Given the description of an element on the screen output the (x, y) to click on. 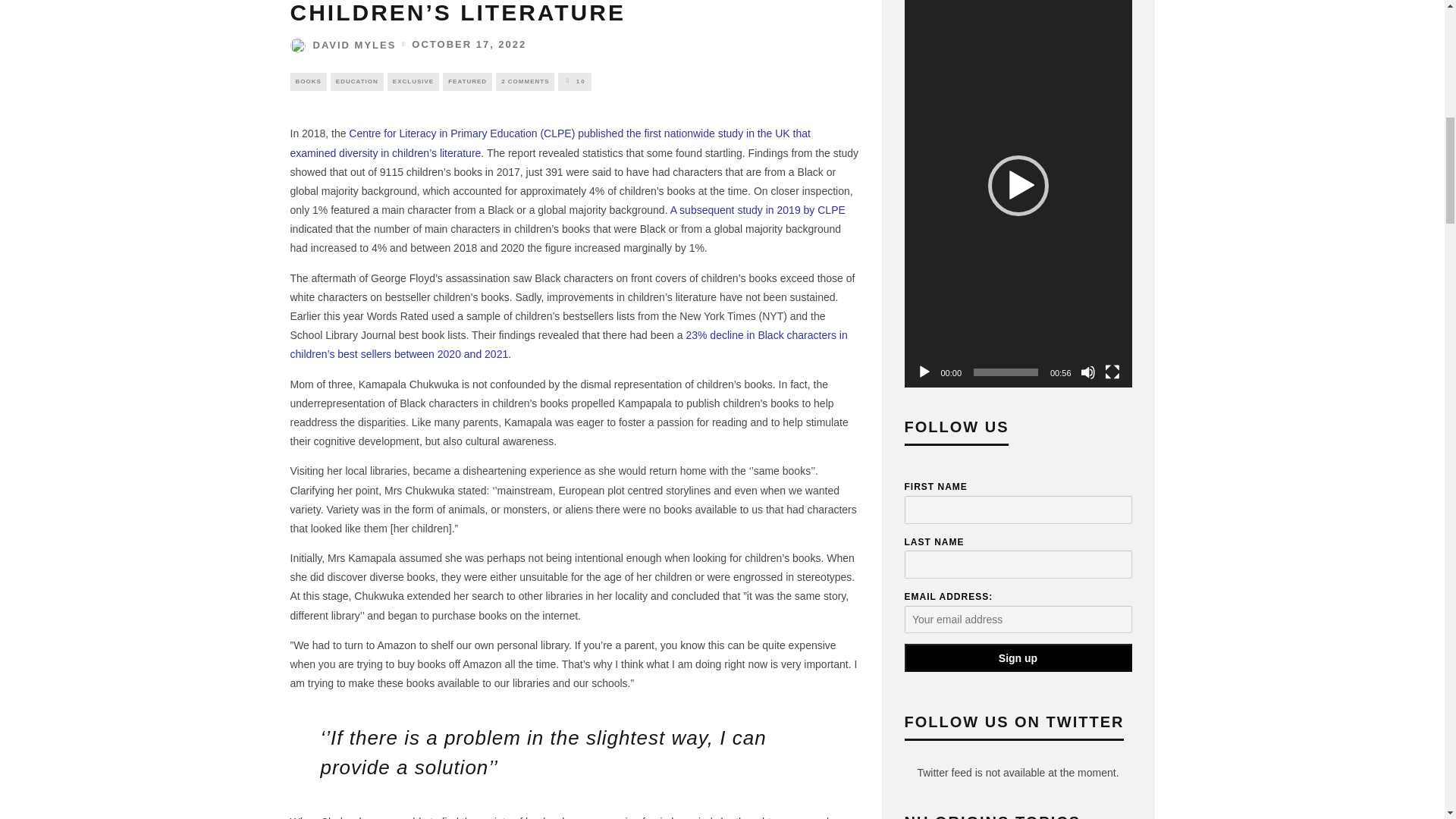
View all posts in Featured (467, 81)
View all posts in Books (307, 81)
Fullscreen (1111, 372)
Sign up (1017, 657)
View all posts in Exclusive (413, 81)
Play (923, 372)
View all posts in Education (357, 81)
Mute (1087, 372)
